Given the description of an element on the screen output the (x, y) to click on. 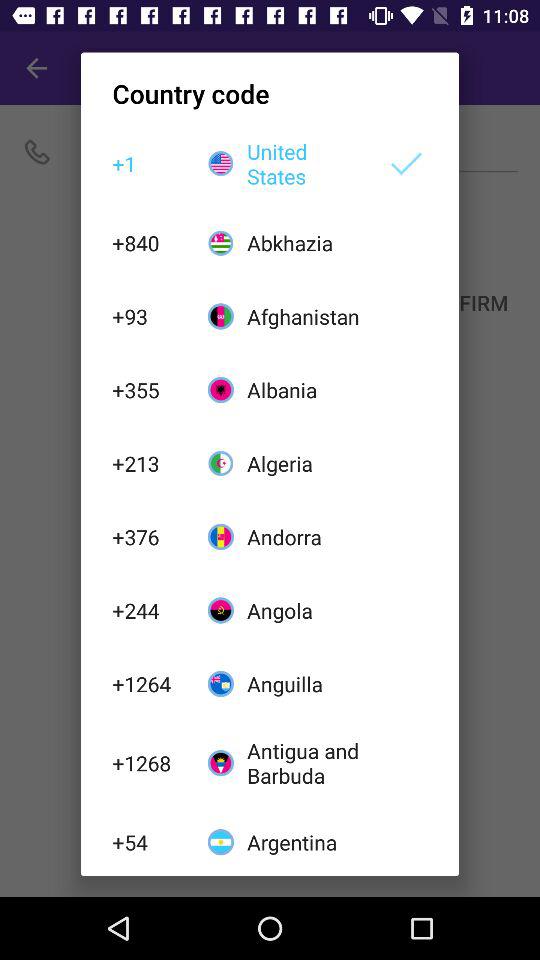
click +93 (149, 316)
